Given the description of an element on the screen output the (x, y) to click on. 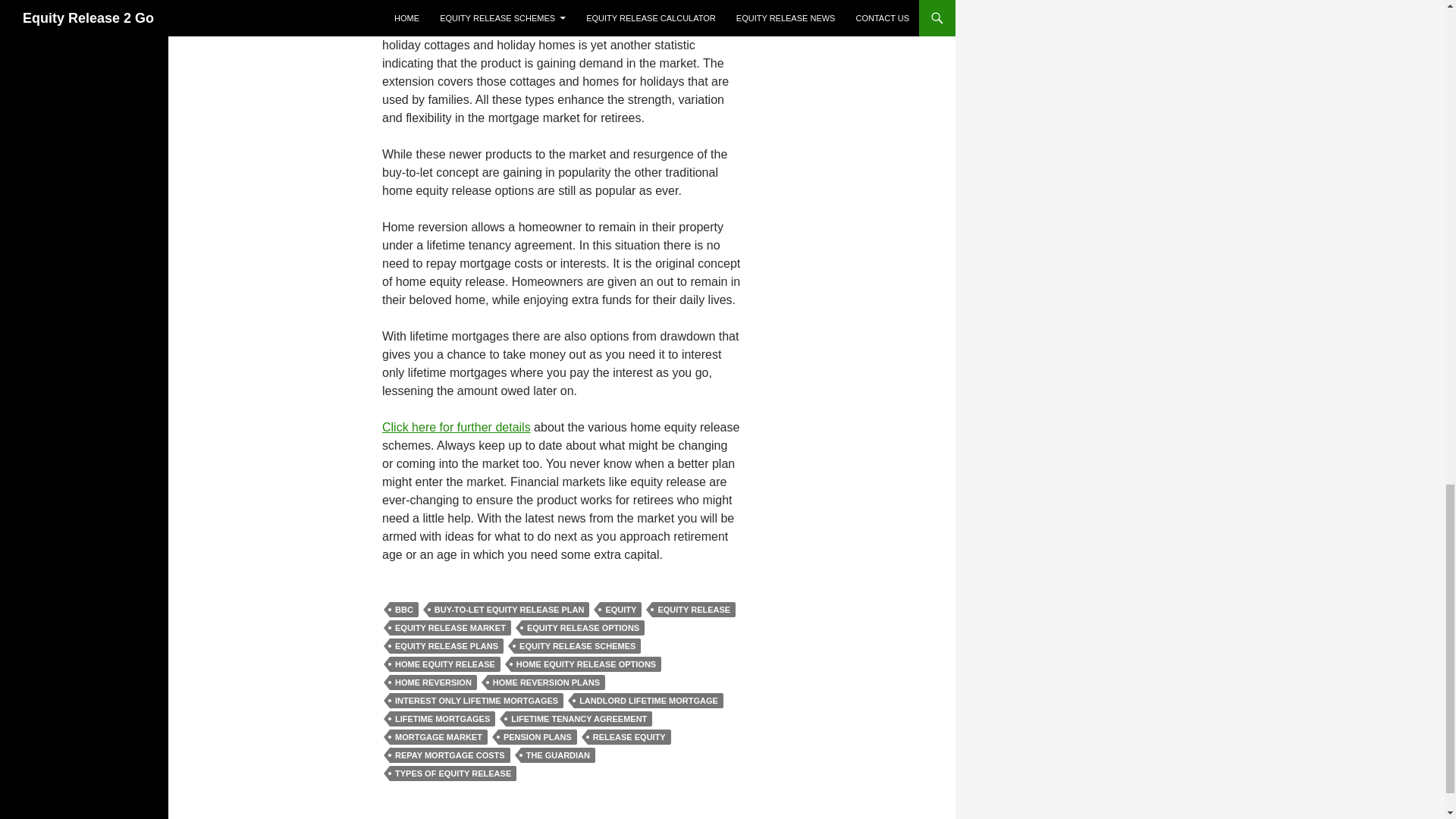
MORTGAGE MARKET (438, 736)
HOME EQUITY RELEASE OPTIONS (586, 663)
LIFETIME MORTGAGES (442, 718)
Click here for further details (456, 427)
RELEASE EQUITY (629, 736)
INTEREST ONLY LIFETIME MORTGAGES (476, 700)
HOME REVERSION PLANS (546, 682)
REPAY MORTGAGE COSTS (450, 754)
PENSION PLANS (536, 736)
HOME EQUITY RELEASE (445, 663)
EQUITY RELEASE SCHEMES (576, 645)
LANDLORD LIFETIME MORTGAGE (648, 700)
Click here for further details (456, 427)
EQUITY RELEASE OPTIONS (583, 627)
LIFETIME TENANCY AGREEMENT (578, 718)
